Given the description of an element on the screen output the (x, y) to click on. 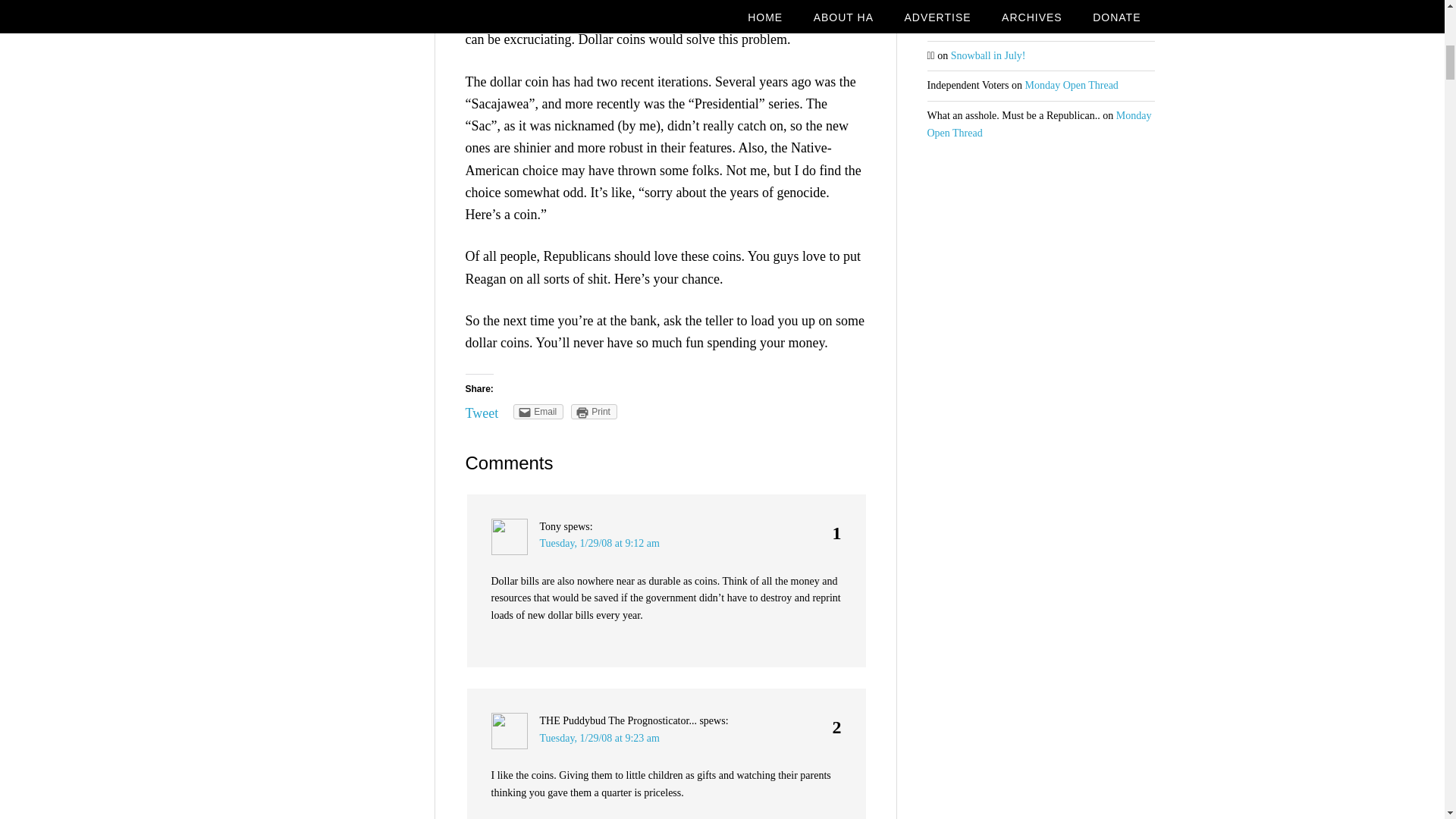
Click to email a link to a friend (538, 411)
Email (538, 411)
Tweet (482, 412)
Print (593, 411)
Click to print (593, 411)
